Given the description of an element on the screen output the (x, y) to click on. 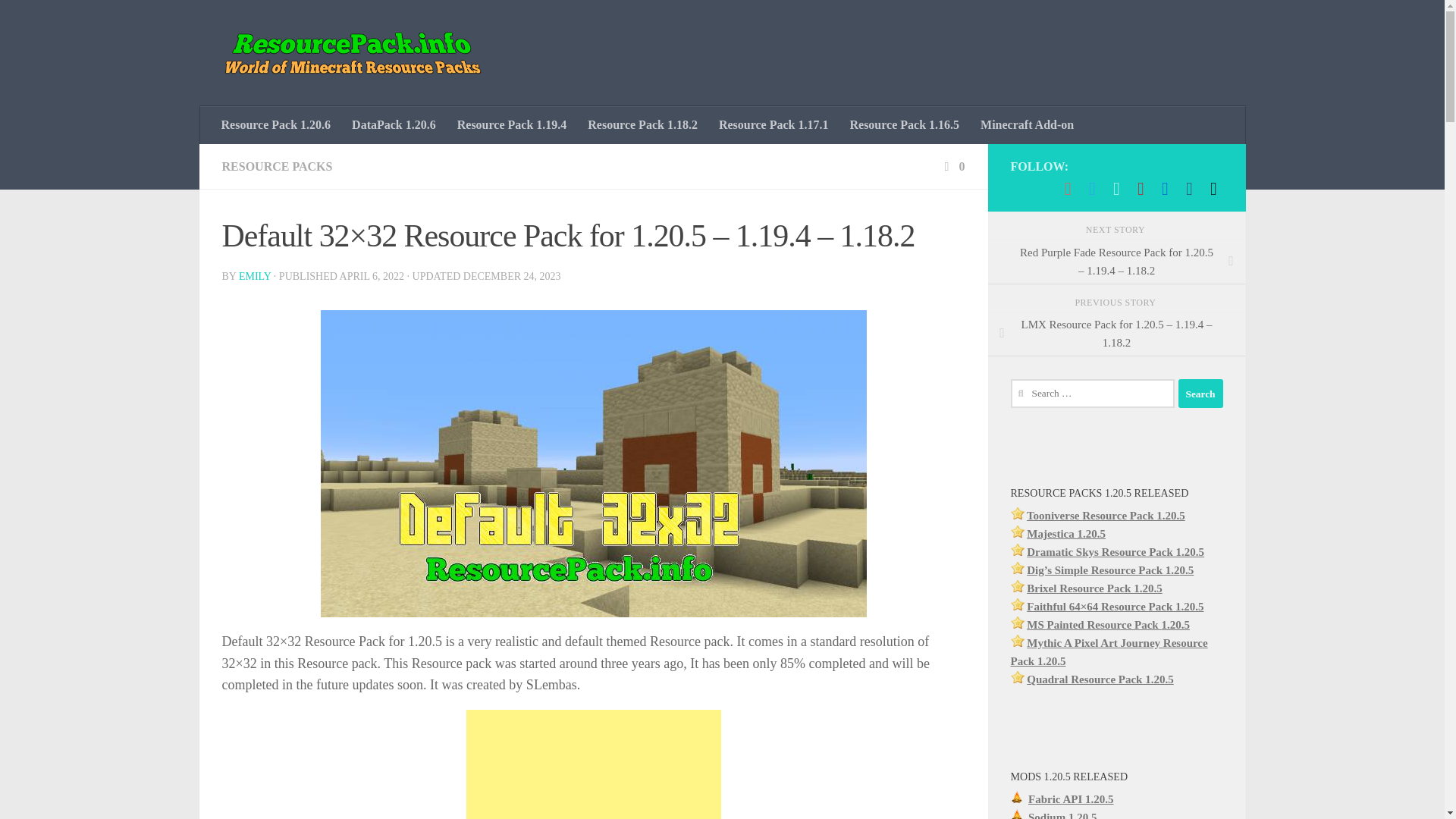
DataPack 1.20.6 (393, 125)
Follow us on Pinterest (1140, 188)
Search (1200, 393)
Resource Pack 1.20.6 (276, 125)
Posts by Emily (254, 276)
0 (951, 165)
Follow us on Instagram (1115, 188)
Resource Pack 1.19.4 (512, 125)
Resource Pack 1.16.5 (903, 125)
RESOURCE PACKS (276, 165)
Follow us on Youtube (1067, 188)
Resource Pack 1.18.2 (641, 125)
Search (1200, 393)
EMILY (254, 276)
Resource Pack 1.17.1 (773, 125)
